Given the description of an element on the screen output the (x, y) to click on. 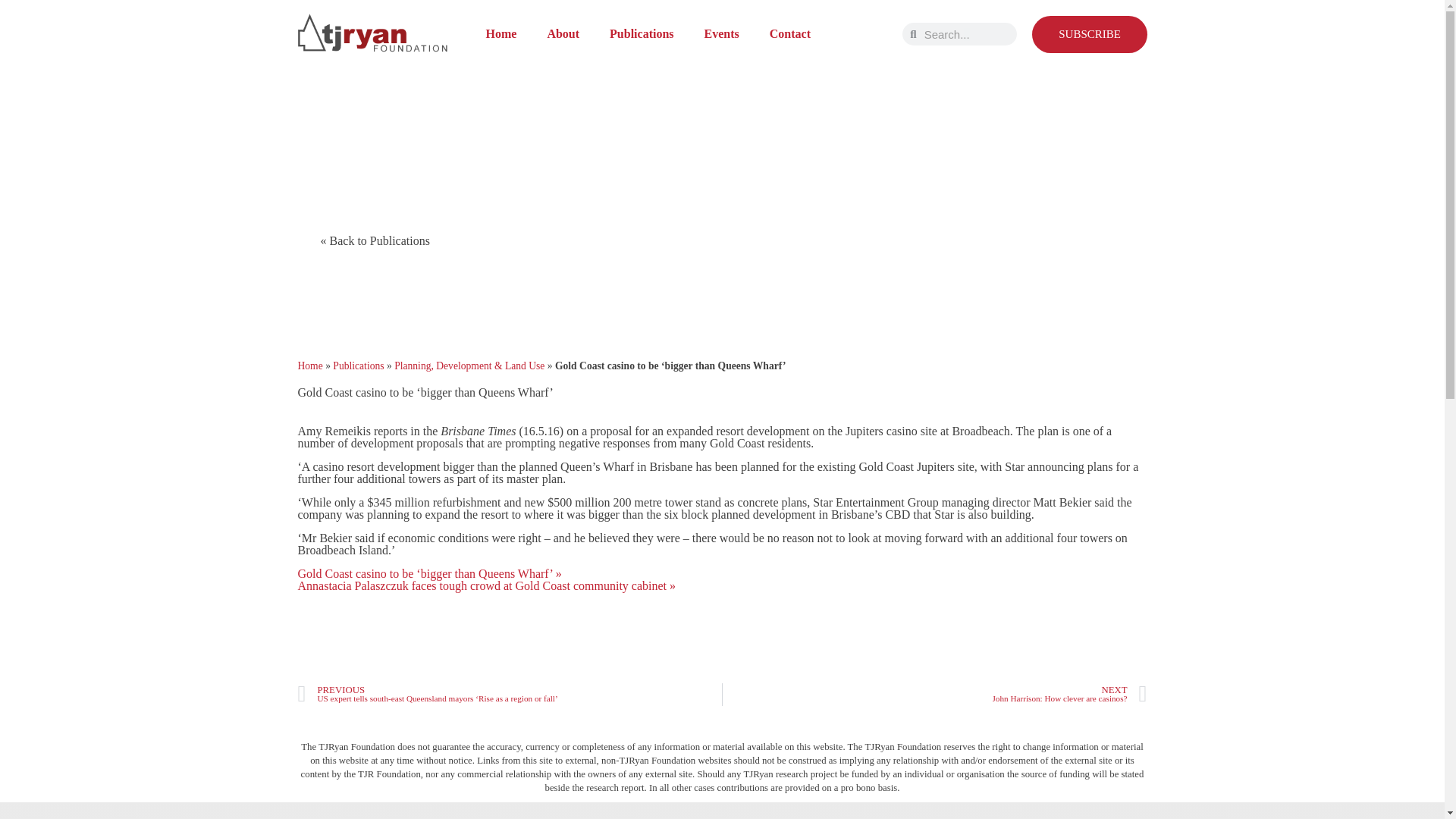
Events (721, 33)
Home (500, 33)
Publications (641, 33)
SUBSCRIBE (1089, 33)
About (562, 33)
Contact (789, 33)
